Given the description of an element on the screen output the (x, y) to click on. 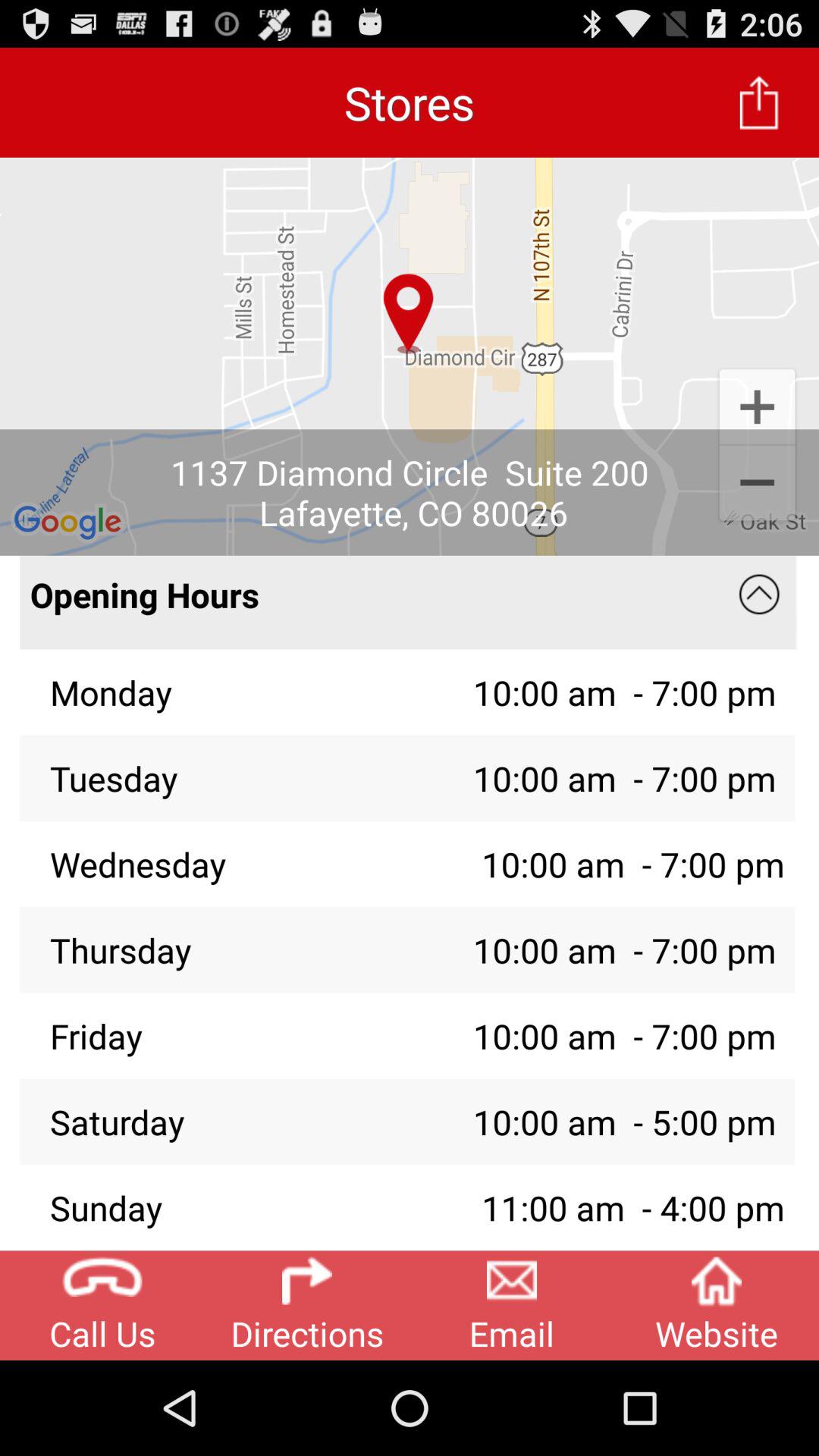
turn on app next to the stores item (759, 102)
